Given the description of an element on the screen output the (x, y) to click on. 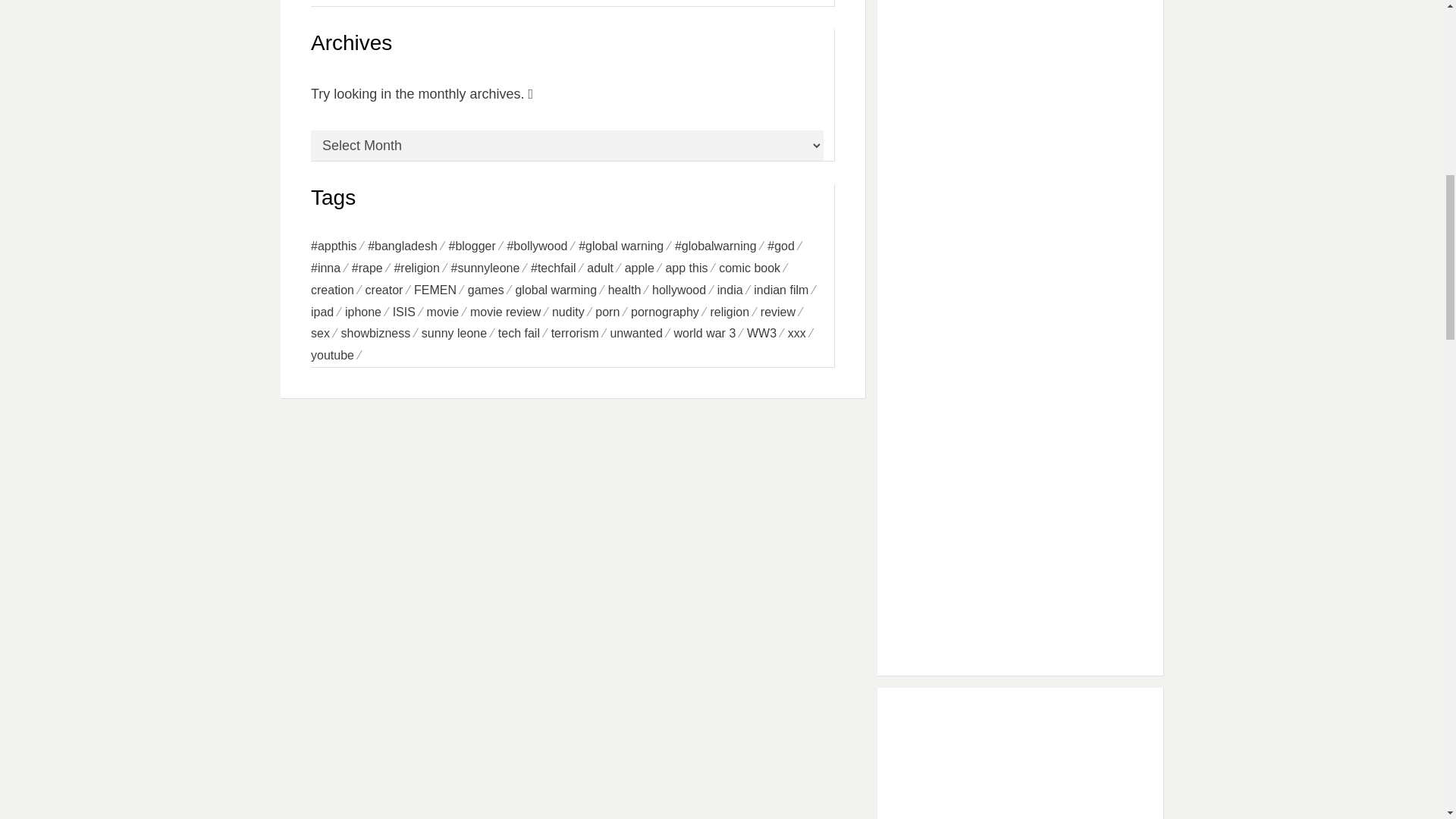
apple (644, 268)
adult (605, 268)
comic book (755, 268)
app this (692, 268)
